Given the description of an element on the screen output the (x, y) to click on. 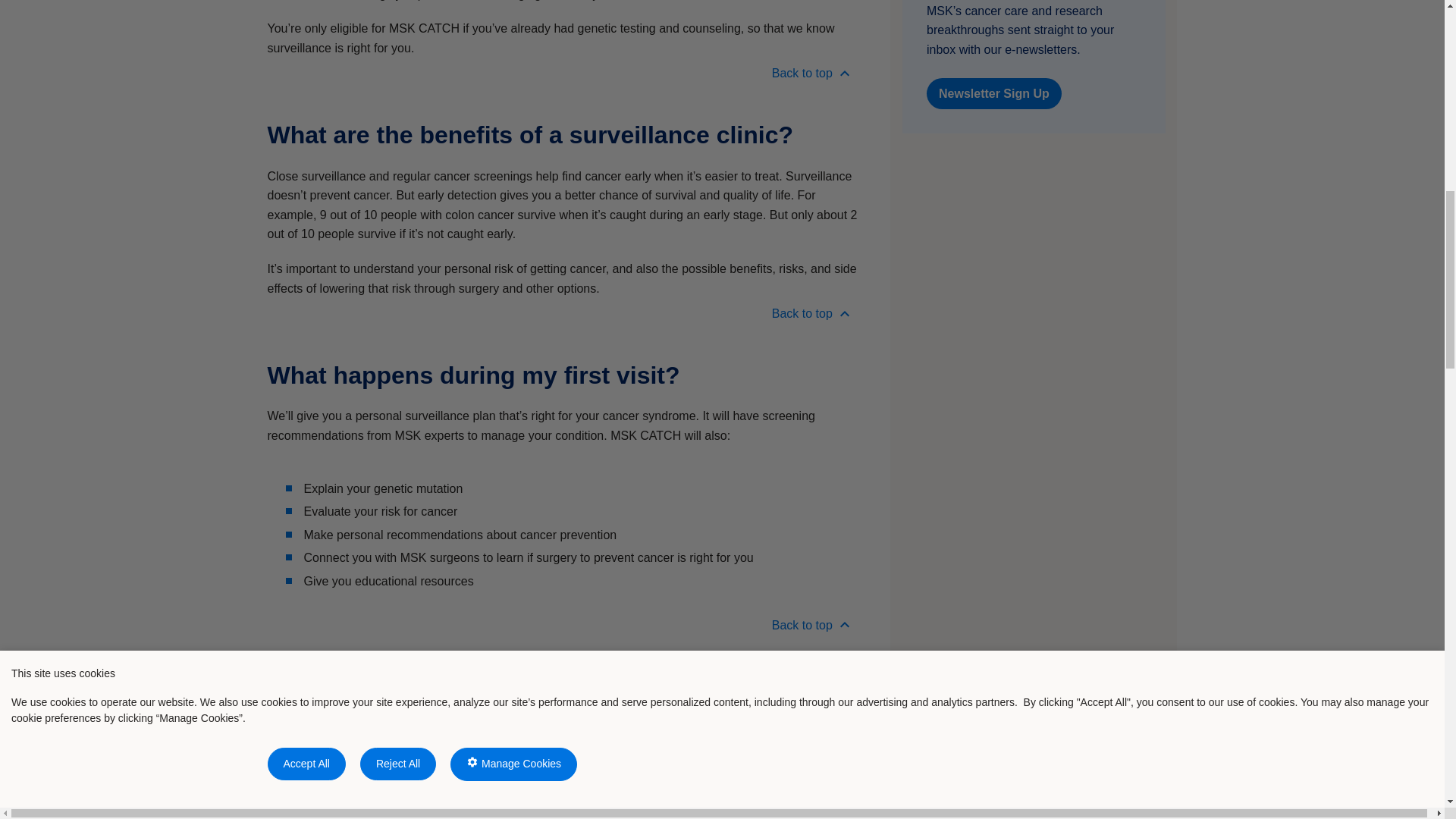
Newsletter Sign Up (993, 92)
